Given the description of an element on the screen output the (x, y) to click on. 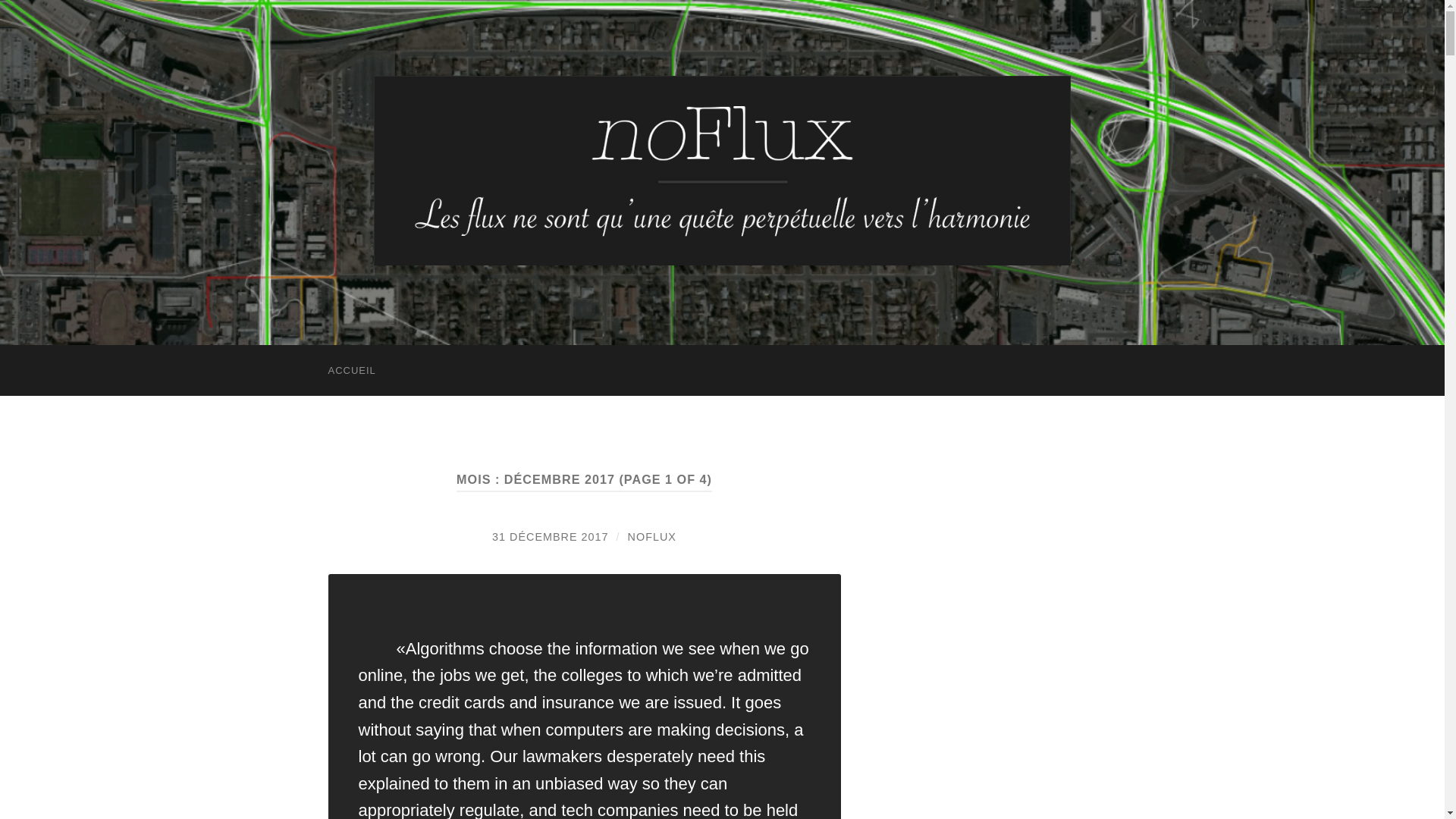
Articles par noflux (652, 536)
NOFLUX (652, 536)
no-Flux (722, 170)
ACCUEIL (351, 369)
